Given the description of an element on the screen output the (x, y) to click on. 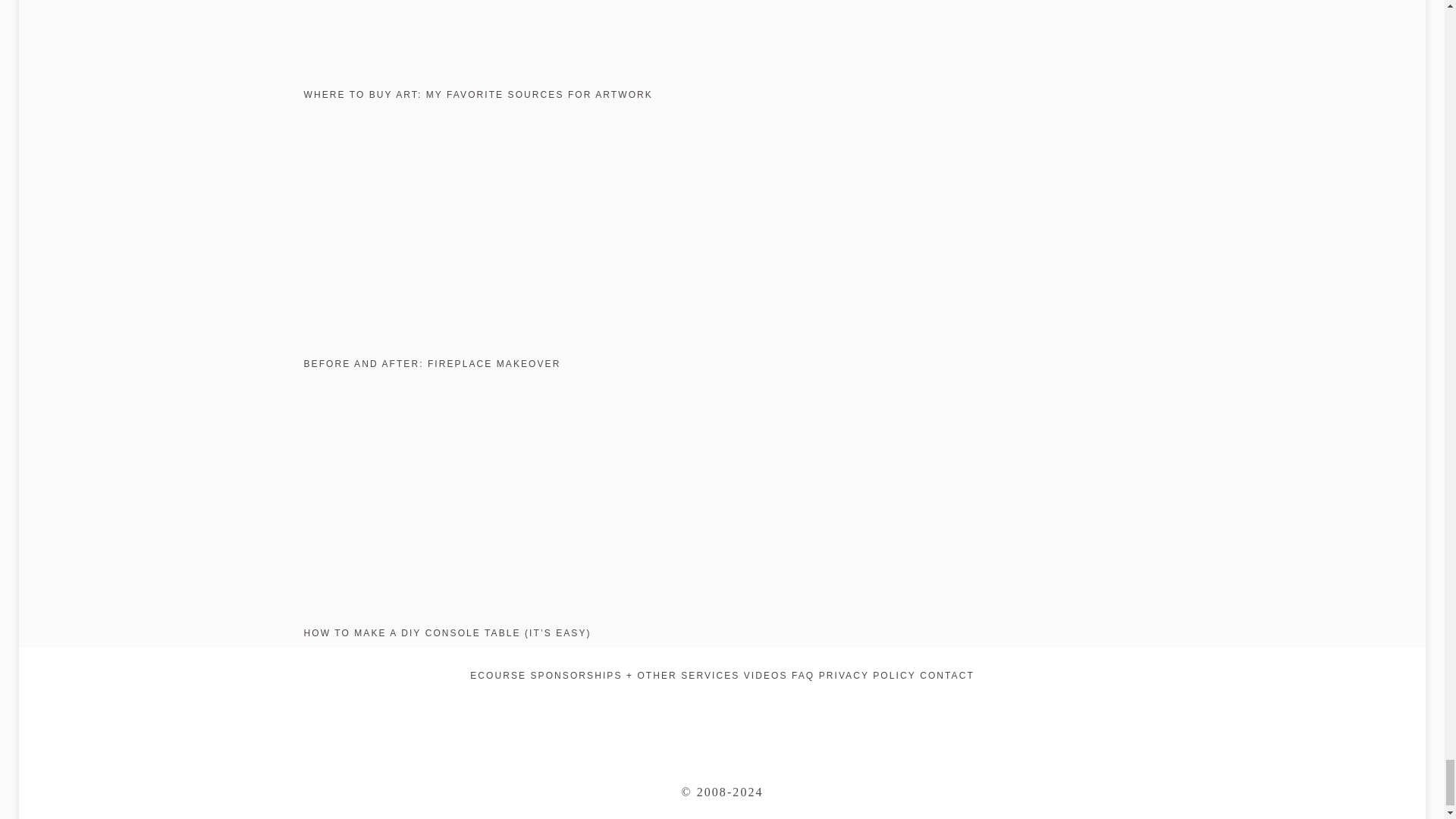
Instagram (653, 712)
YouTube (790, 712)
Pinterest (680, 712)
Facebook (708, 712)
Blog Lovin (762, 712)
YouTube (765, 675)
Facebook (735, 712)
